Given the description of an element on the screen output the (x, y) to click on. 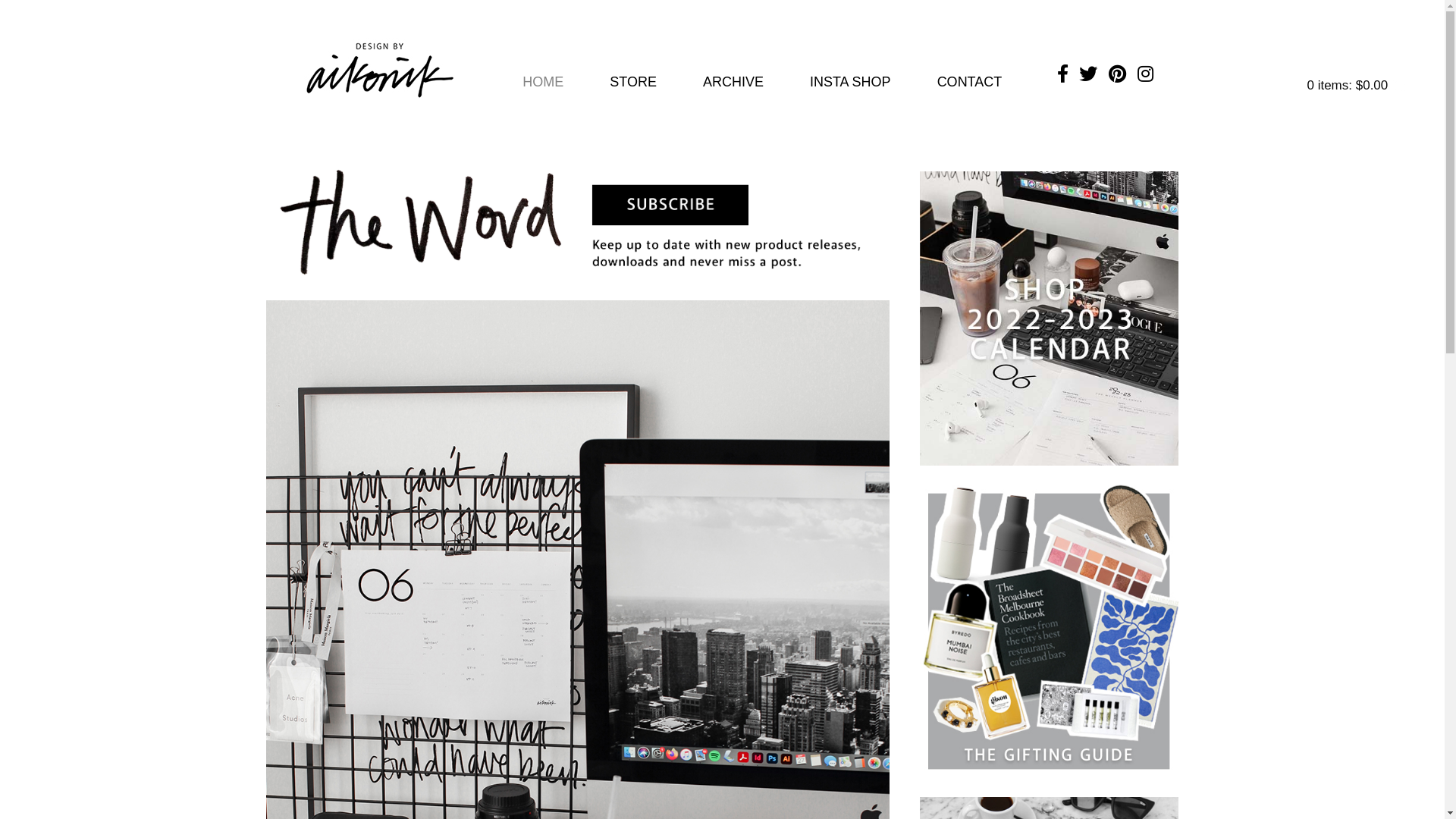
ARCHIVE Element type: text (733, 82)
HOME Element type: text (542, 82)
Design By Aikonik - Logo New small Element type: hover (379, 70)
Design By Aikonik - The Gifting Guide 21 Element type: hover (1048, 631)
SIDE MENU - CALENDAR 2022-2023 Element type: hover (1048, 318)
CONTACT Element type: text (969, 82)
Design By Aikonik - The Word 2 Element type: hover (577, 220)
STORE Element type: text (632, 82)
INSTA SHOP Element type: text (850, 82)
0 items: $0.00 Element type: text (1356, 85)
